Given the description of an element on the screen output the (x, y) to click on. 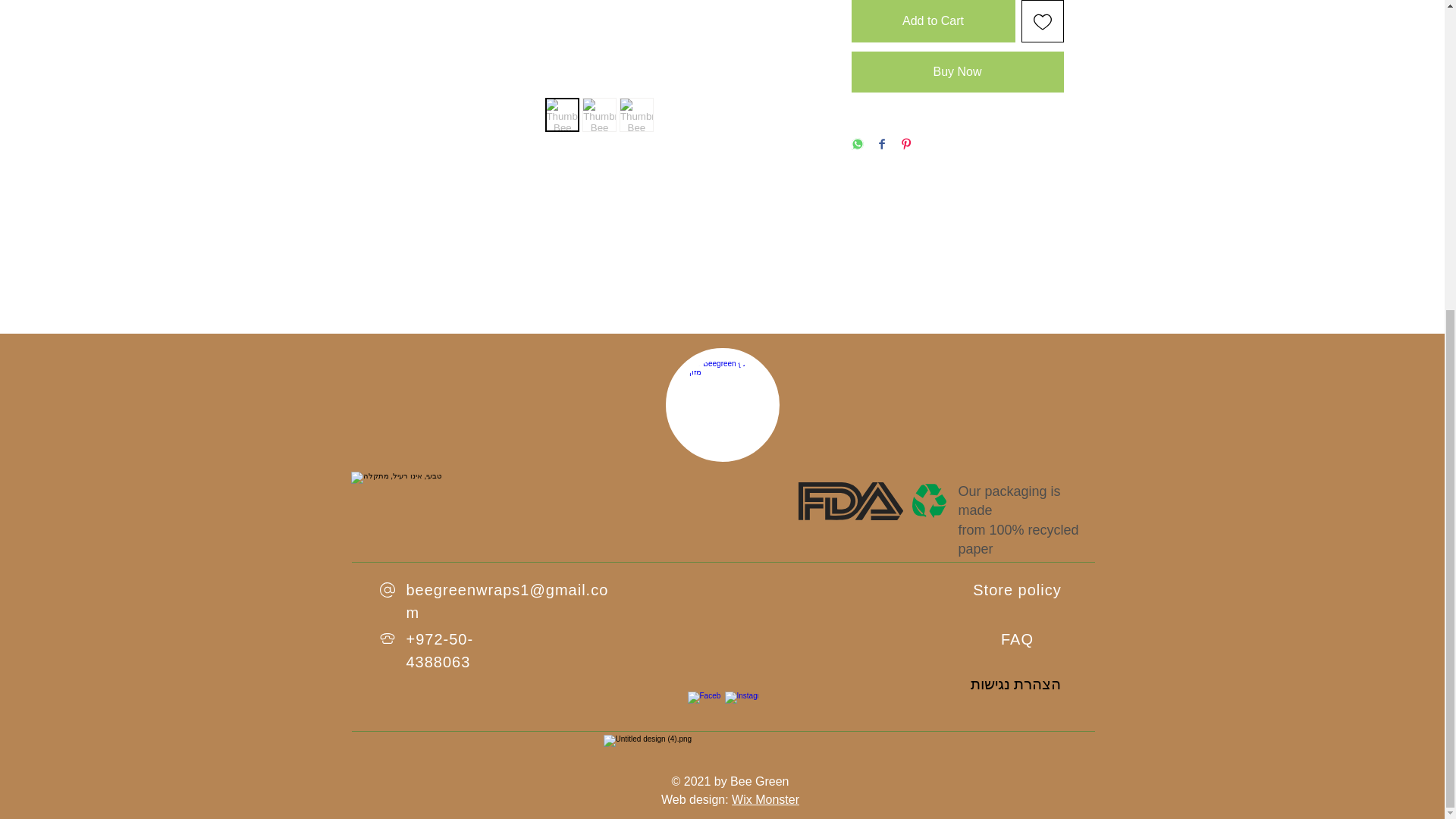
Add to Cart (932, 21)
Buy Now (956, 71)
Store policy (1016, 589)
